Given the description of an element on the screen output the (x, y) to click on. 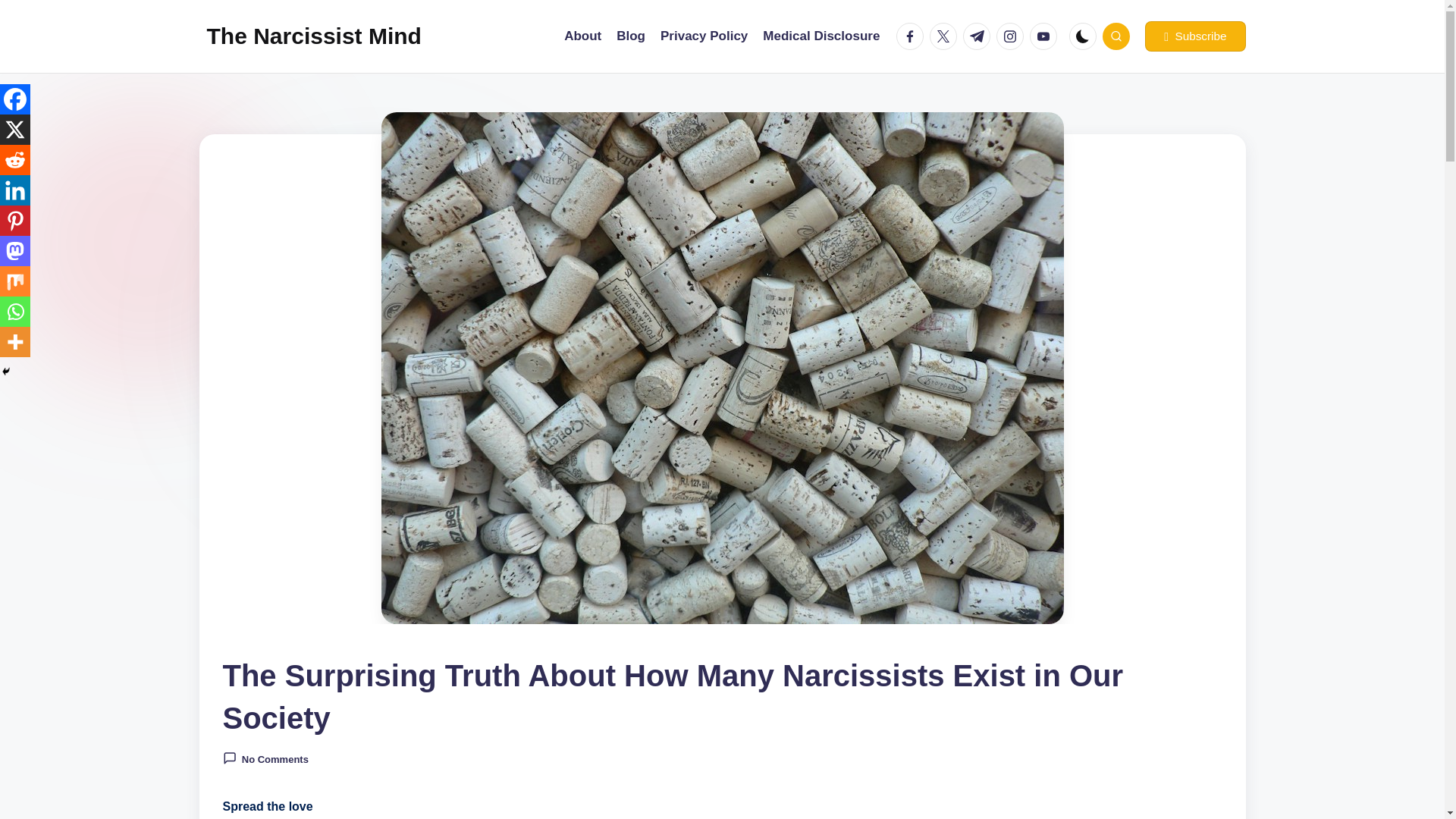
Privacy Policy (704, 36)
youtube.com (1045, 35)
Medical Disclosure (820, 36)
Blog (630, 36)
Reddit (15, 159)
X (15, 129)
Linkedin (15, 190)
facebook.com (913, 35)
No Comments (265, 758)
About (582, 36)
